Given the description of an element on the screen output the (x, y) to click on. 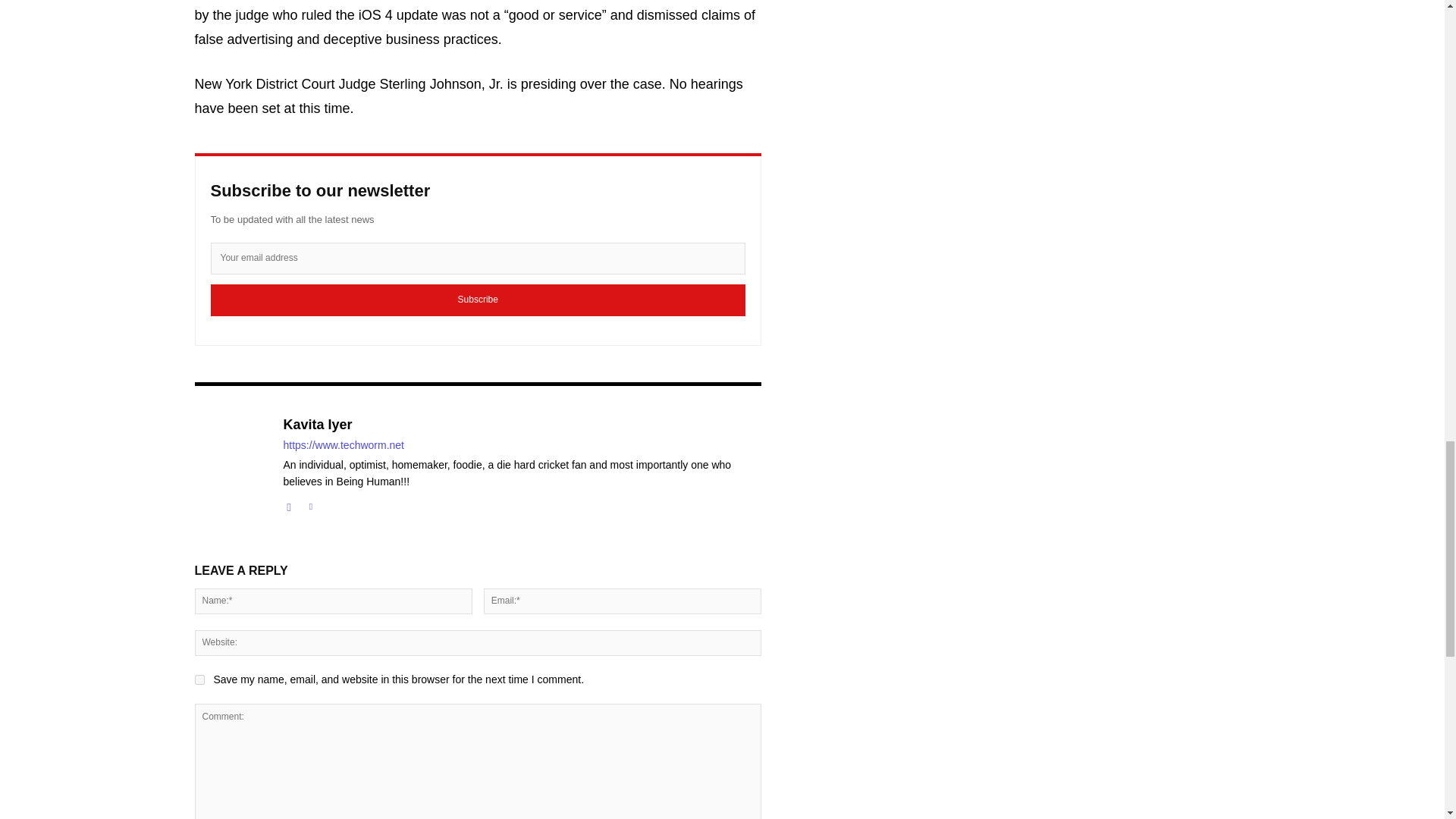
yes (198, 679)
Facebook (289, 504)
Twitter (309, 504)
Kavita Iyer (522, 425)
Subscribe (478, 299)
